Given the description of an element on the screen output the (x, y) to click on. 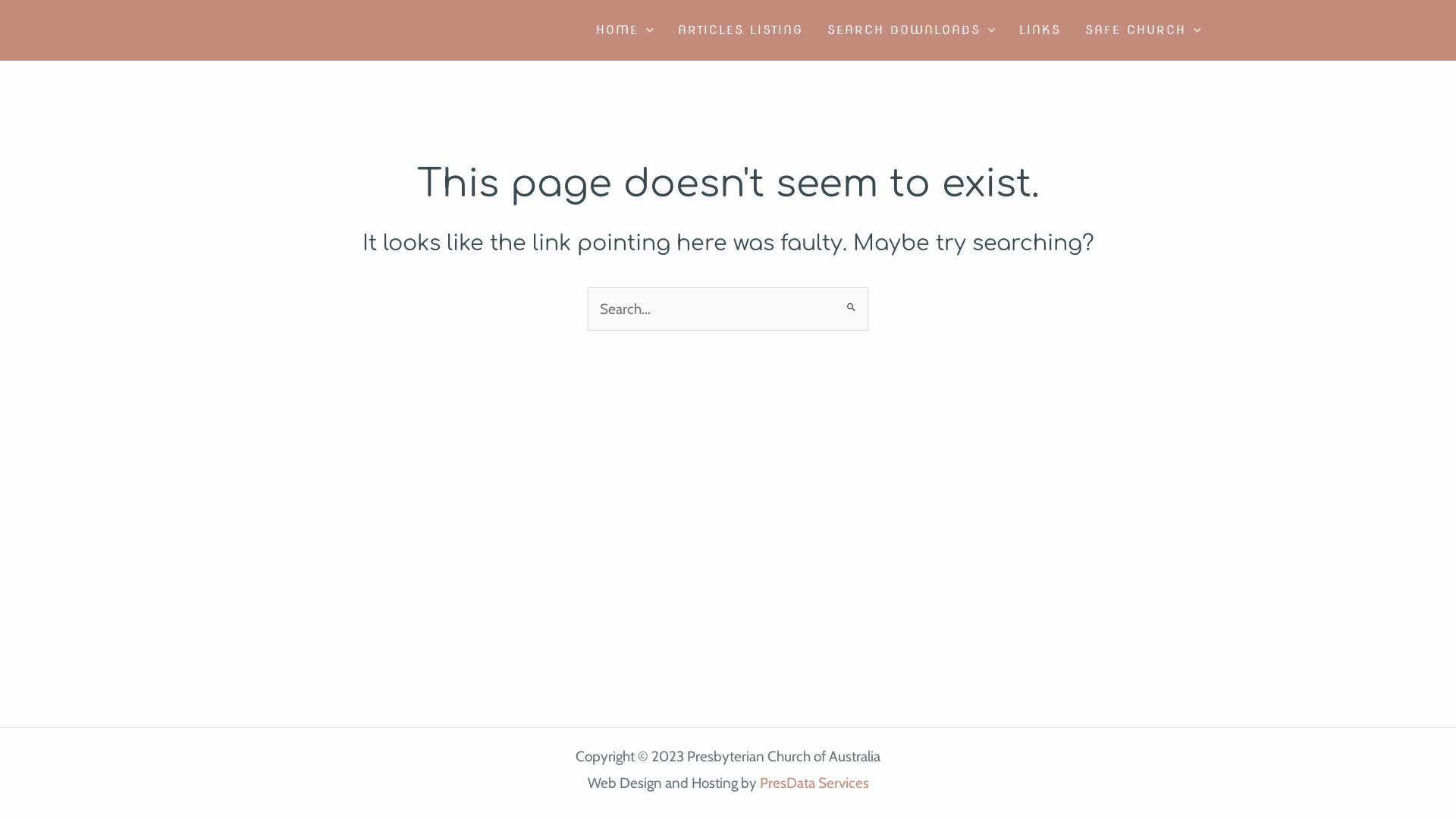
LINKS Element type: text (1040, 30)
SEARCH DOWNLOADS Element type: text (911, 30)
ARTICLES LISTING Element type: text (740, 30)
PresData Services Element type: text (814, 782)
Search Element type: text (851, 301)
SAFE CHURCH Element type: text (1143, 30)
HOME Element type: text (624, 30)
